Given the description of an element on the screen output the (x, y) to click on. 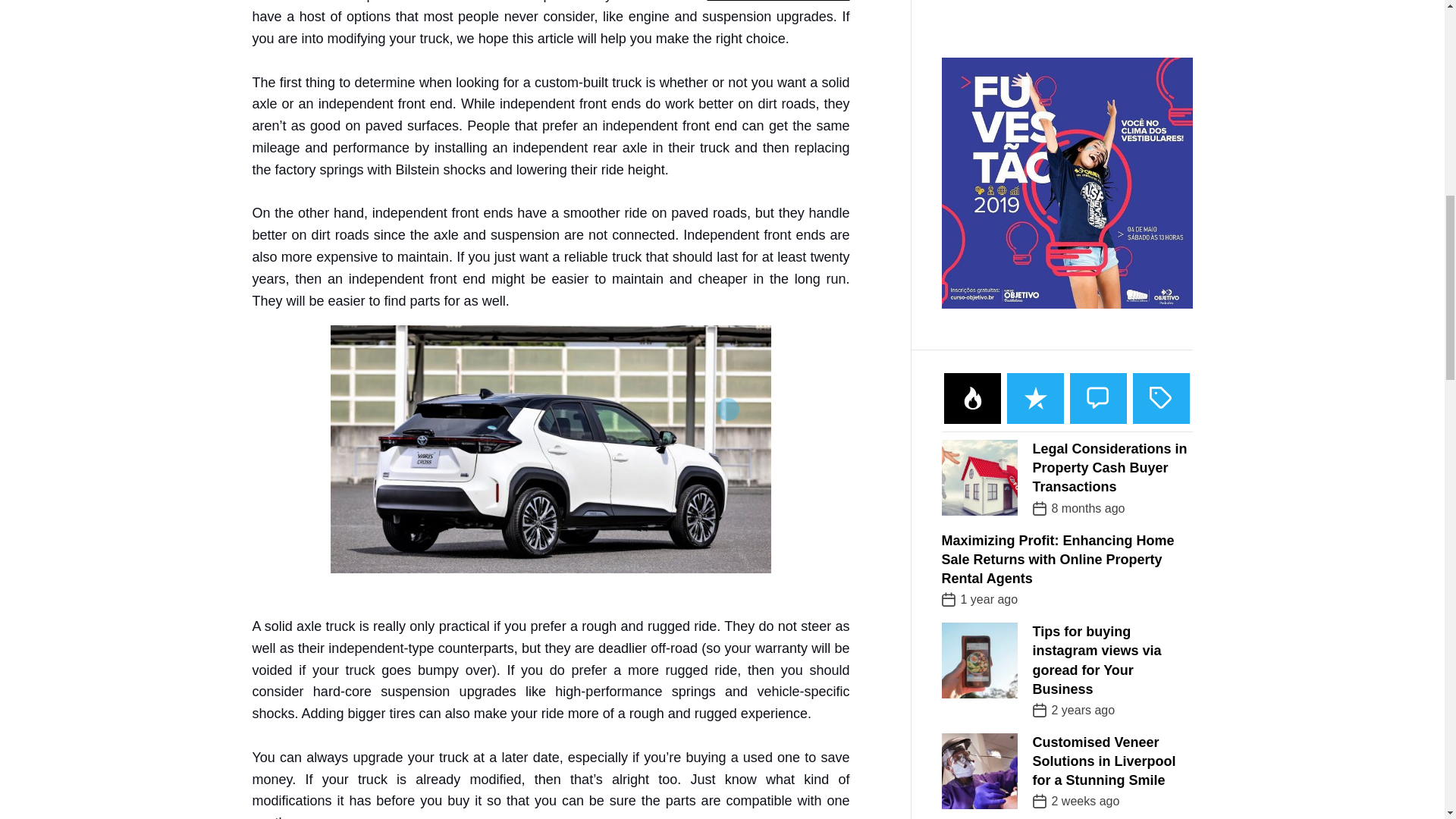
custom trucks fresno (777, 1)
